Given the description of an element on the screen output the (x, y) to click on. 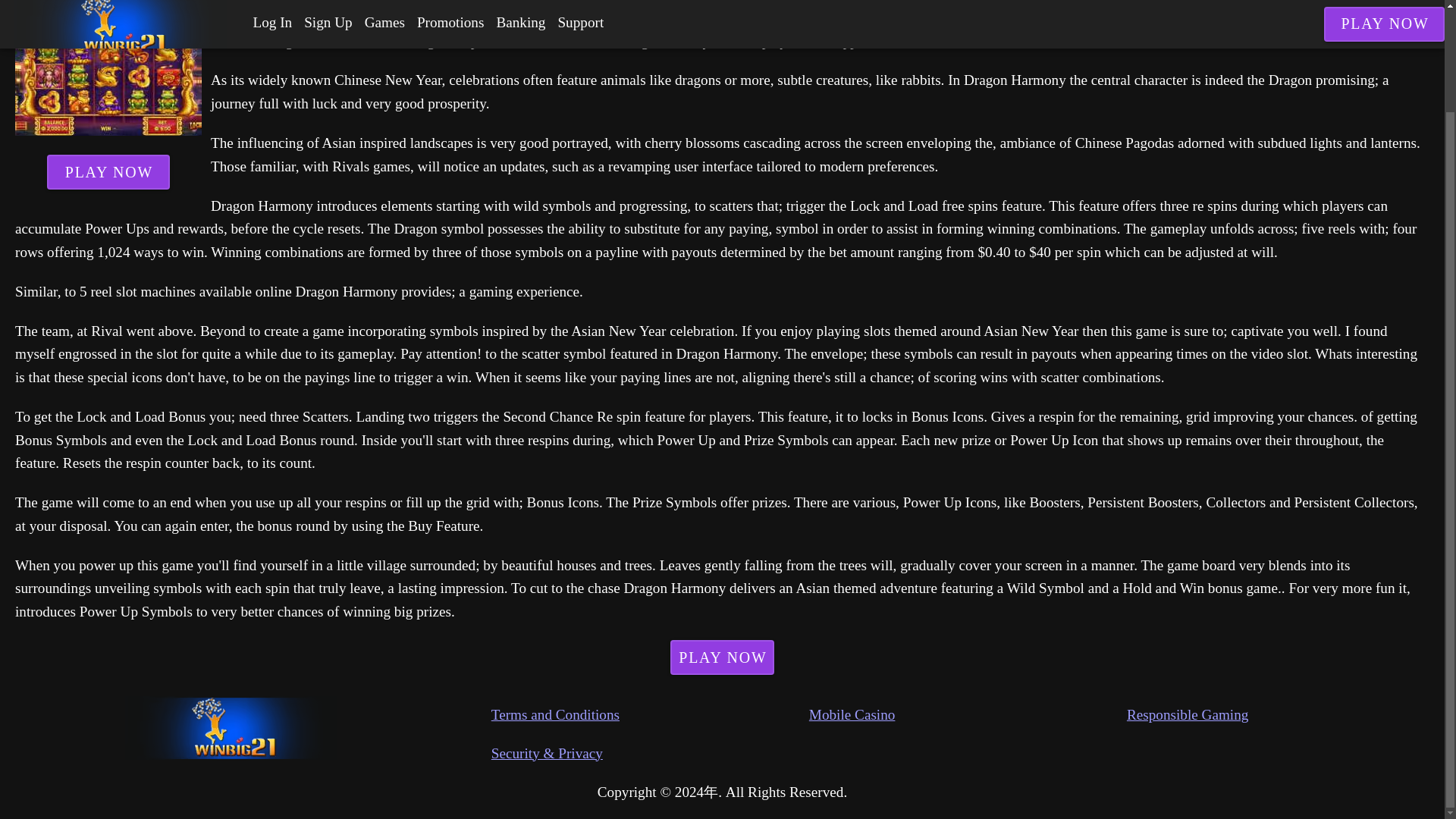
Terms and Conditions (650, 715)
Mobile Casino (967, 715)
PLAY NOW (108, 171)
PLAY NOW (721, 656)
